Given the description of an element on the screen output the (x, y) to click on. 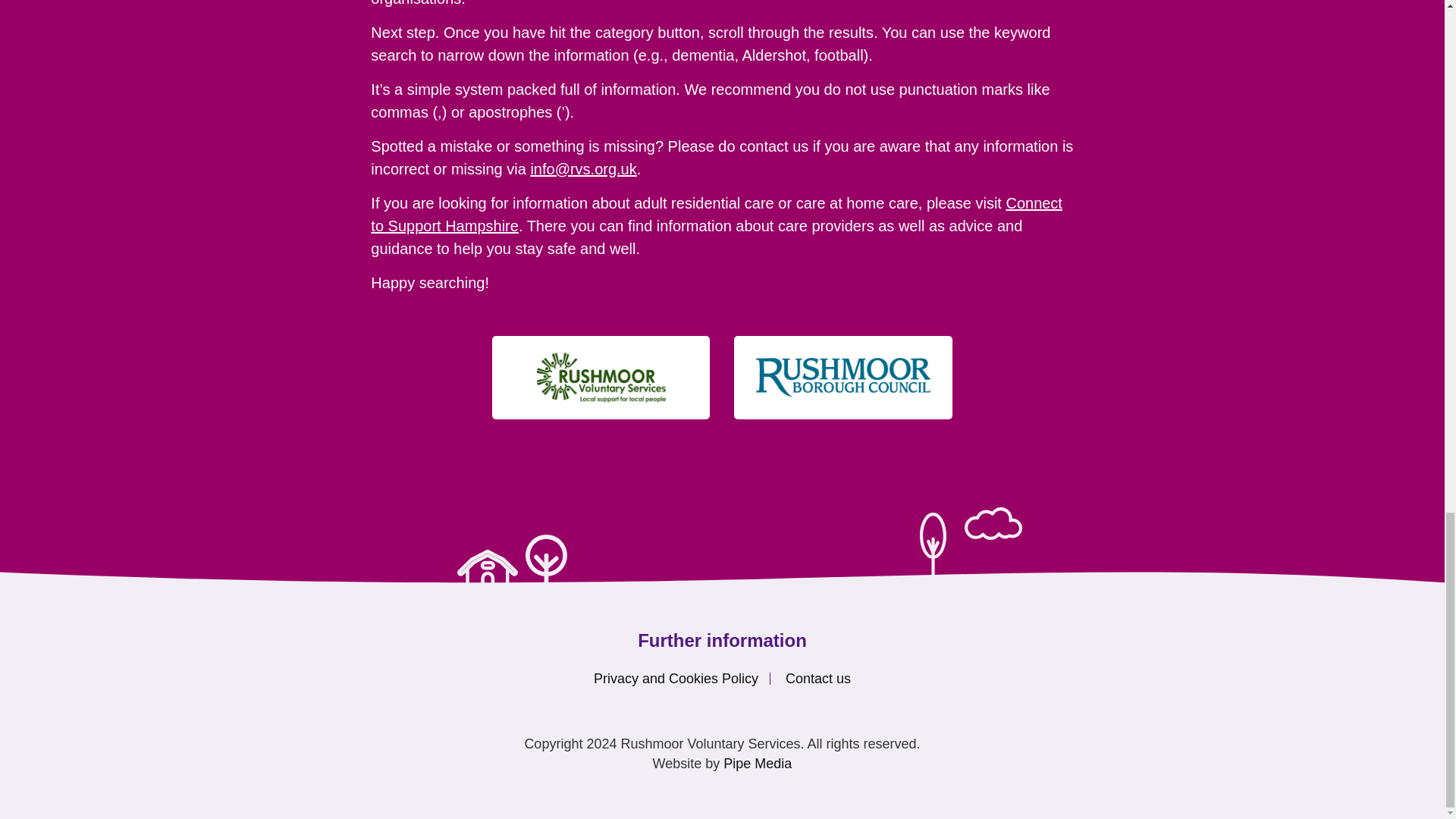
Pipe Media (757, 763)
Connect to Support Hampshire (716, 214)
Privacy and Cookies Policy (676, 678)
Contact us (818, 678)
